Given the description of an element on the screen output the (x, y) to click on. 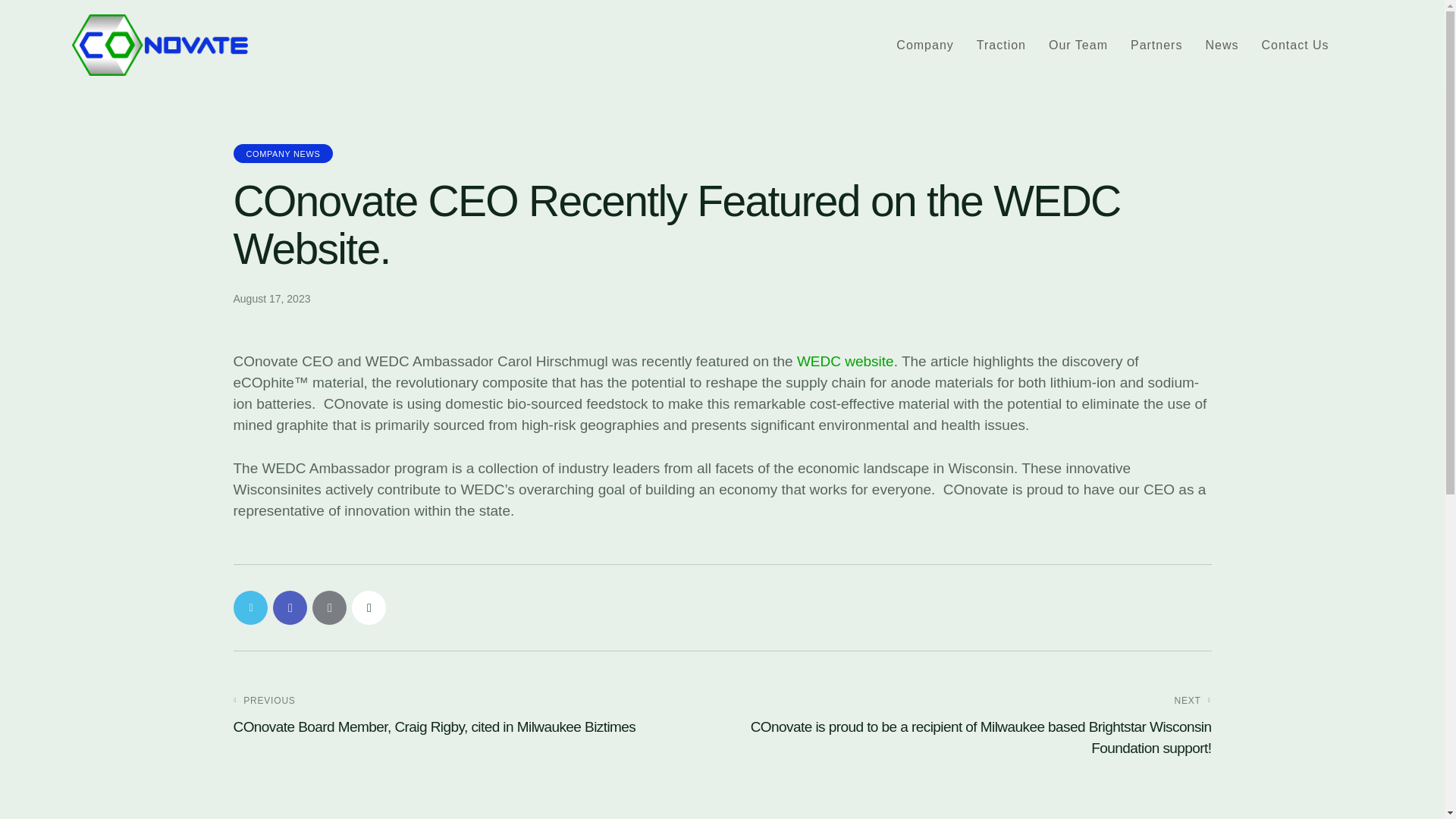
Copy URL to clipboard (368, 607)
Partners (1156, 45)
Our Team (1078, 45)
Company (924, 45)
Traction (1001, 45)
Contact Us (1293, 45)
News (1222, 45)
